Given the description of an element on the screen output the (x, y) to click on. 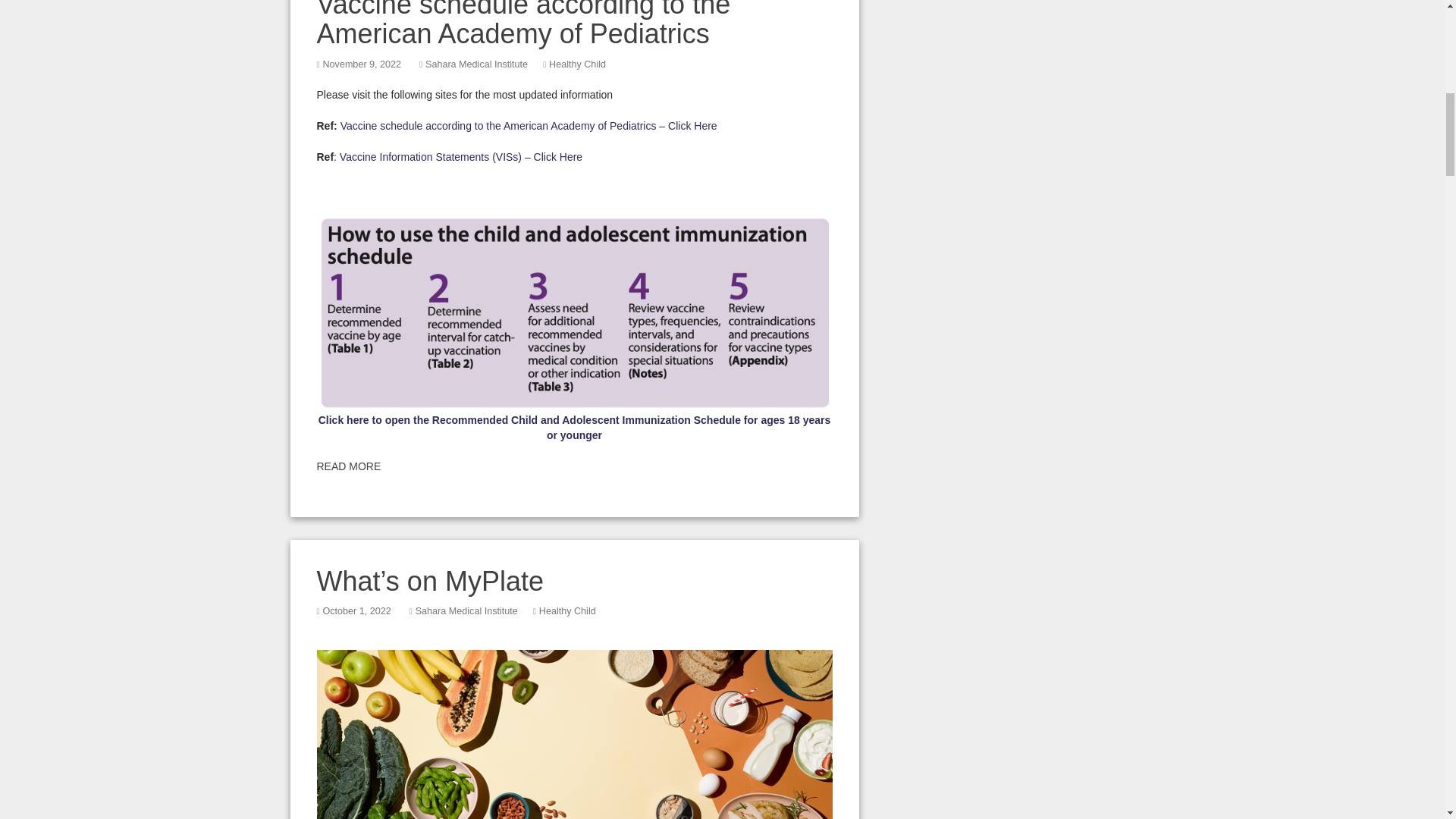
READ MORE (349, 466)
Sahara Medical Institute (476, 63)
November 9, 2022 (361, 63)
Sahara Medical Institute (466, 611)
Healthy Child (576, 63)
Healthy Child (566, 611)
October 1, 2022 (355, 611)
